Given the description of an element on the screen output the (x, y) to click on. 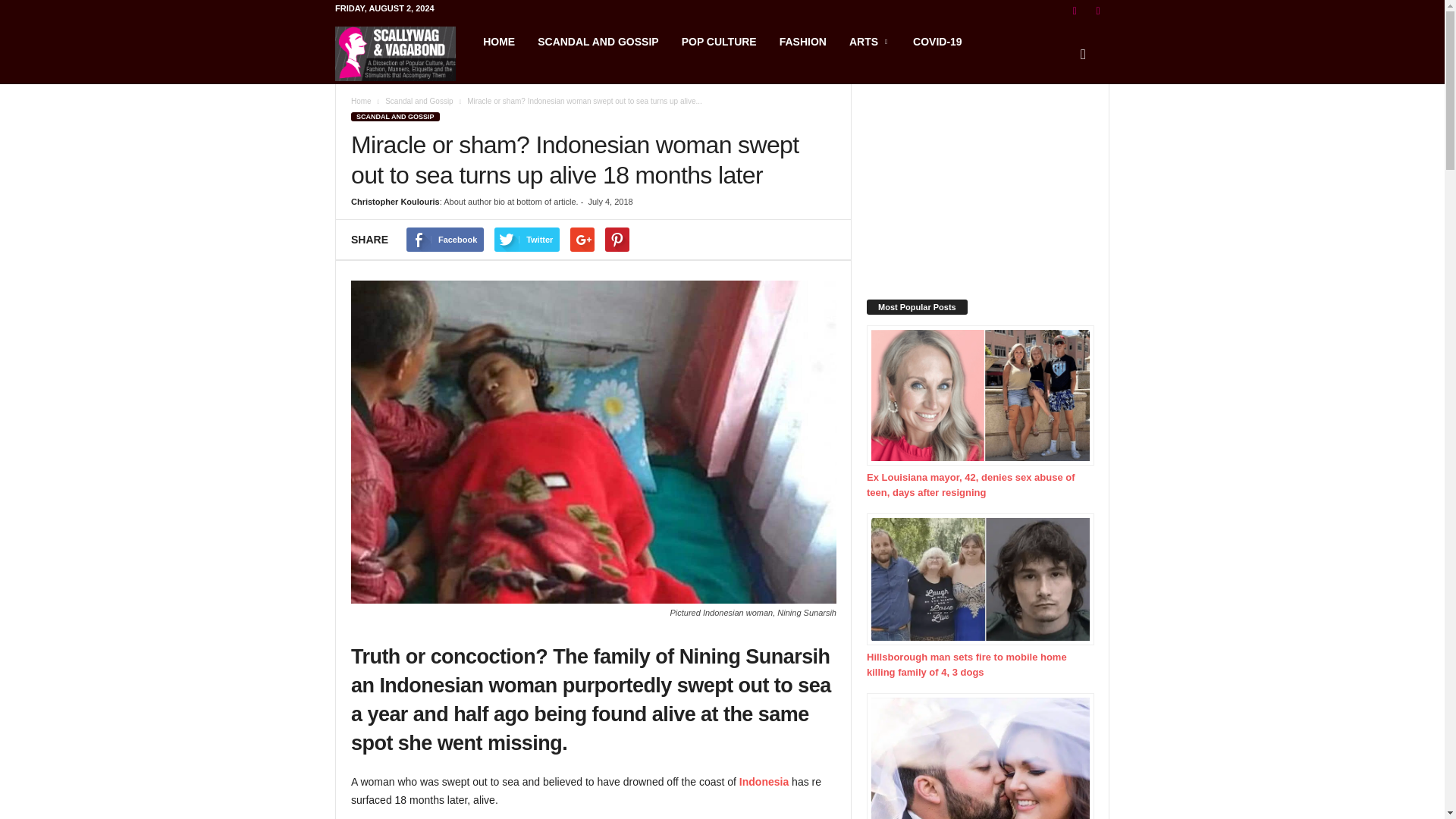
Christopher Koulouris (394, 201)
View all posts in Scandal and Gossip (418, 101)
Twitter (527, 239)
FASHION (803, 41)
POP CULTURE (718, 41)
HOME (498, 41)
Scallywag and Vagabond (402, 52)
Indonesia (764, 781)
Facebook (444, 239)
ARTS (869, 41)
SCANDAL AND GOSSIP (597, 41)
COVID-19 (937, 41)
